Given the description of an element on the screen output the (x, y) to click on. 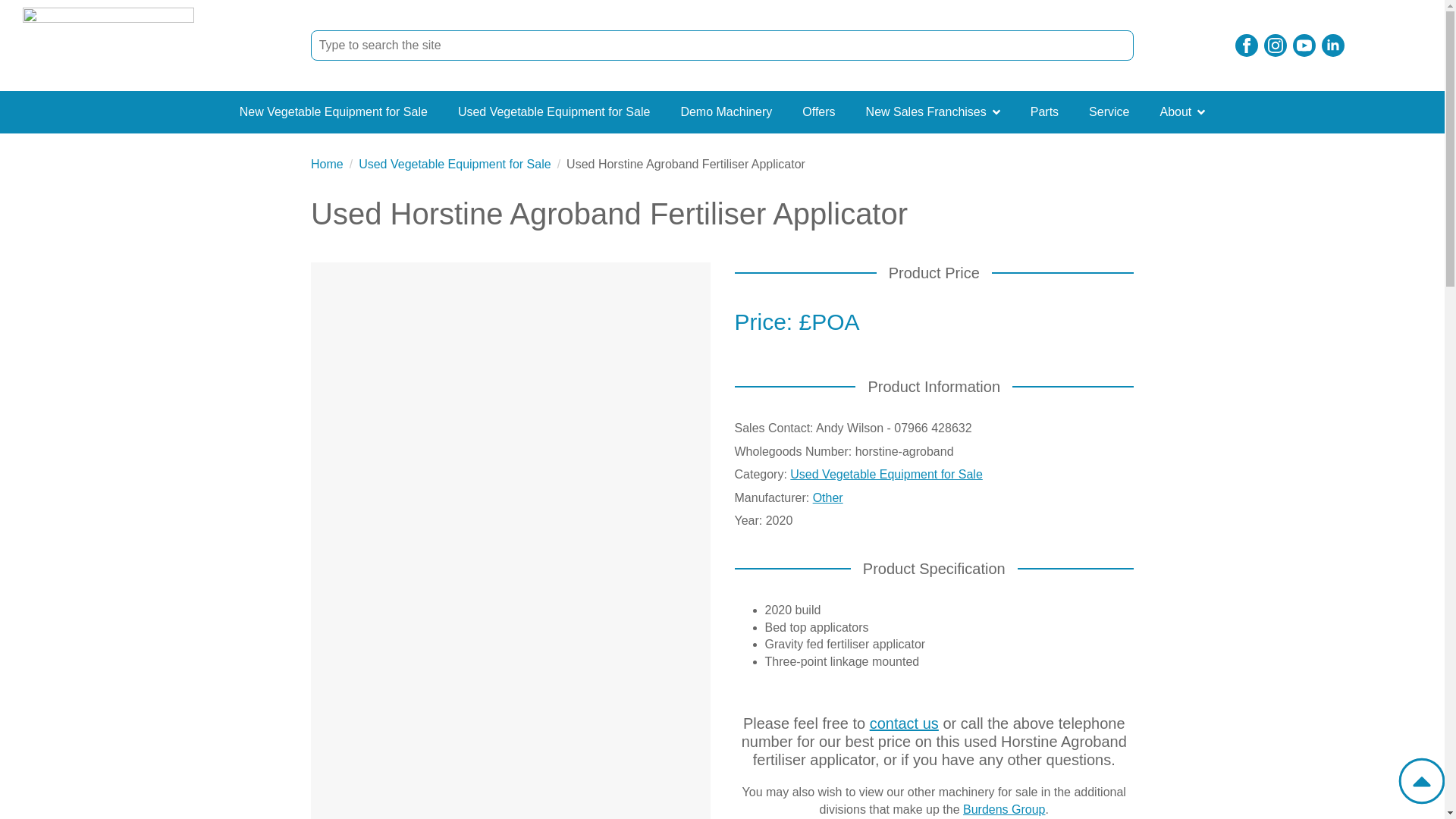
Offers (818, 111)
Used Vegetable Equipment for Sale (553, 111)
Demo Machinery (726, 111)
New Vegetable Equipment for Sale (333, 111)
About (1167, 111)
Service (1109, 111)
New Sales Franchises (918, 111)
Parts (1044, 111)
Used Vegetable Equipment for Sale (454, 164)
Home (327, 164)
